Given the description of an element on the screen output the (x, y) to click on. 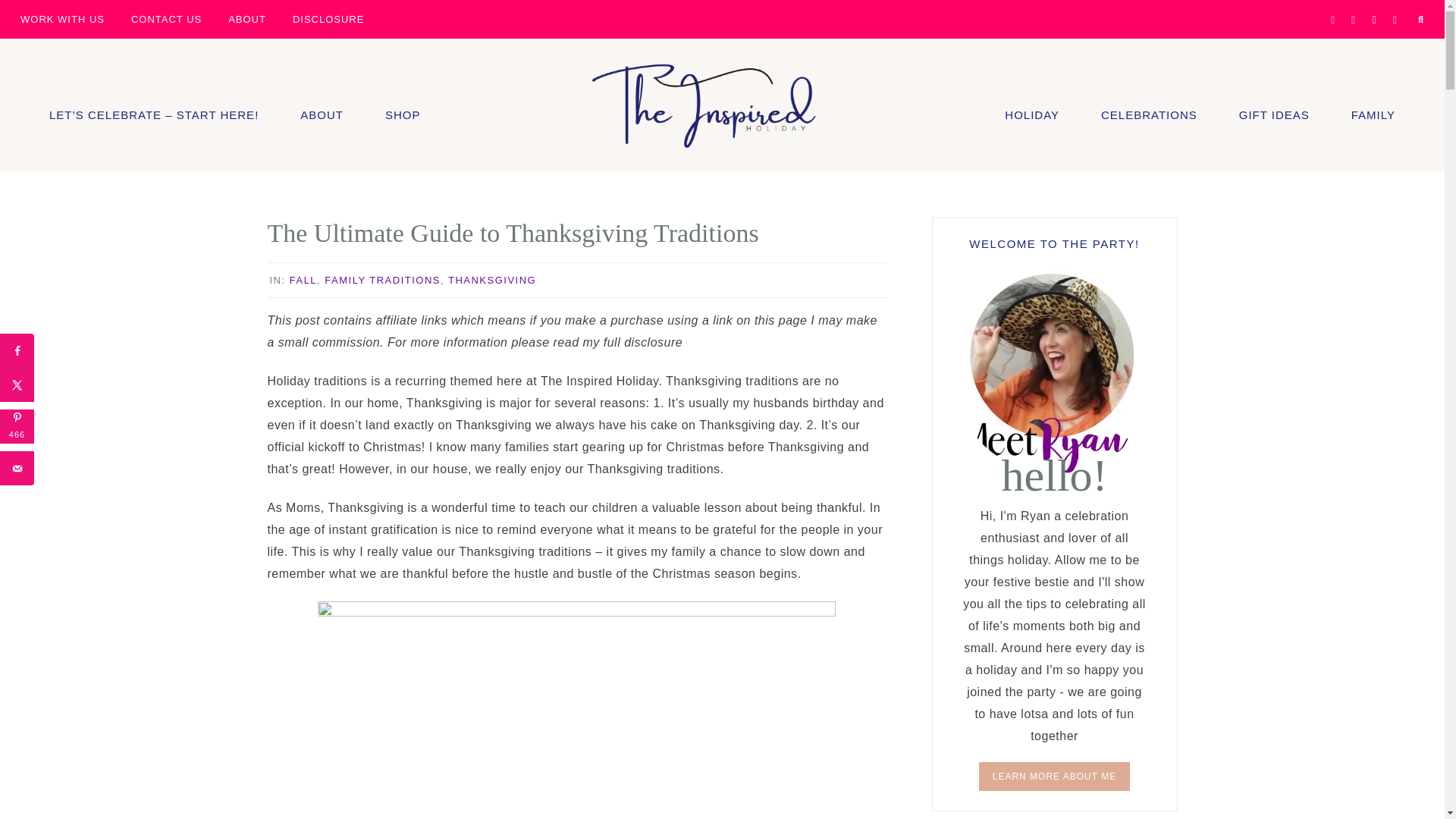
DISCLOSURE (328, 18)
CONTACT US (165, 18)
ABOUT (247, 18)
WORK WITH US (62, 18)
